Given the description of an element on the screen output the (x, y) to click on. 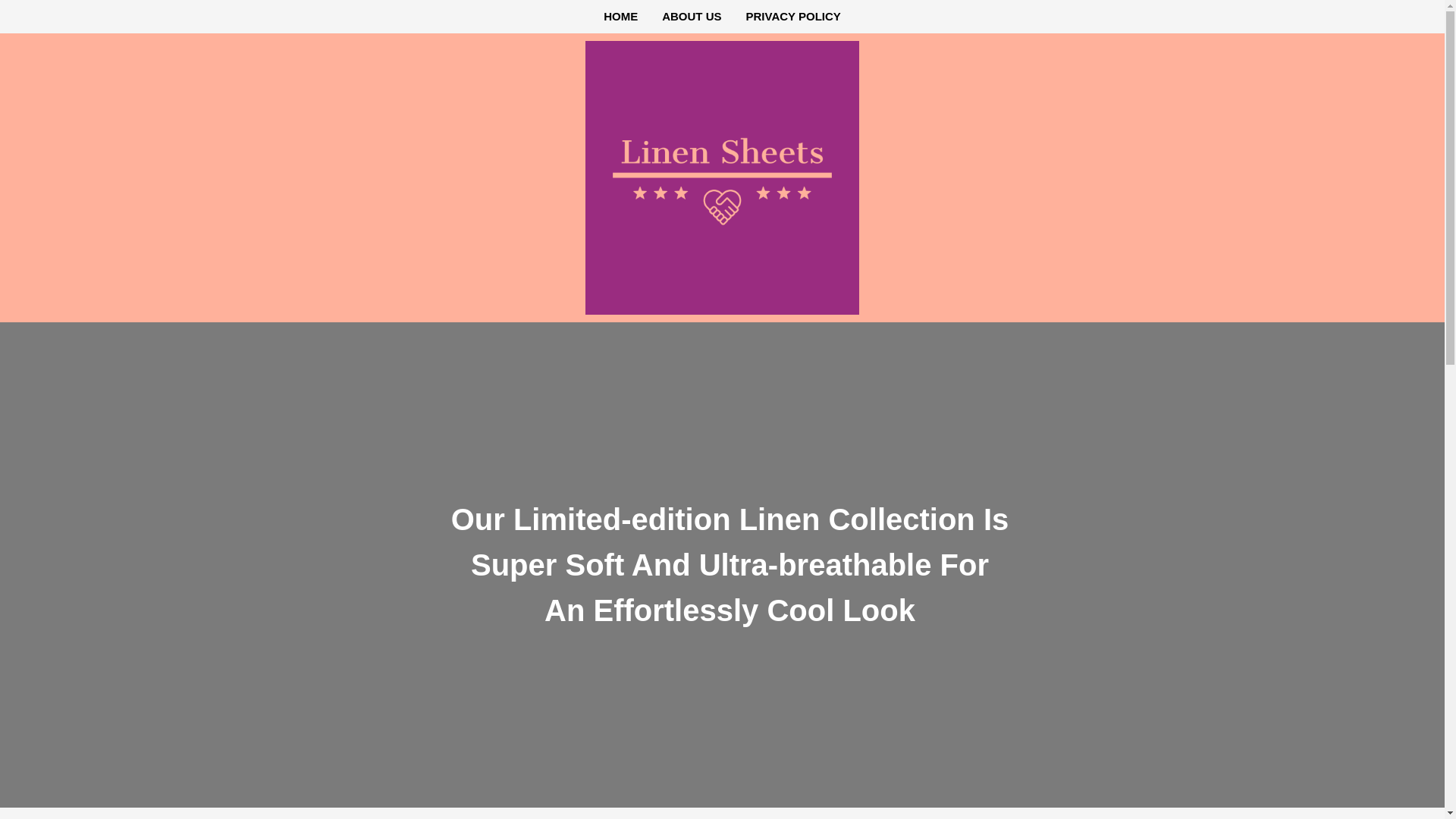
PRIVACY POLICY (793, 16)
ABOUT US (691, 16)
HOME (620, 16)
